Given the description of an element on the screen output the (x, y) to click on. 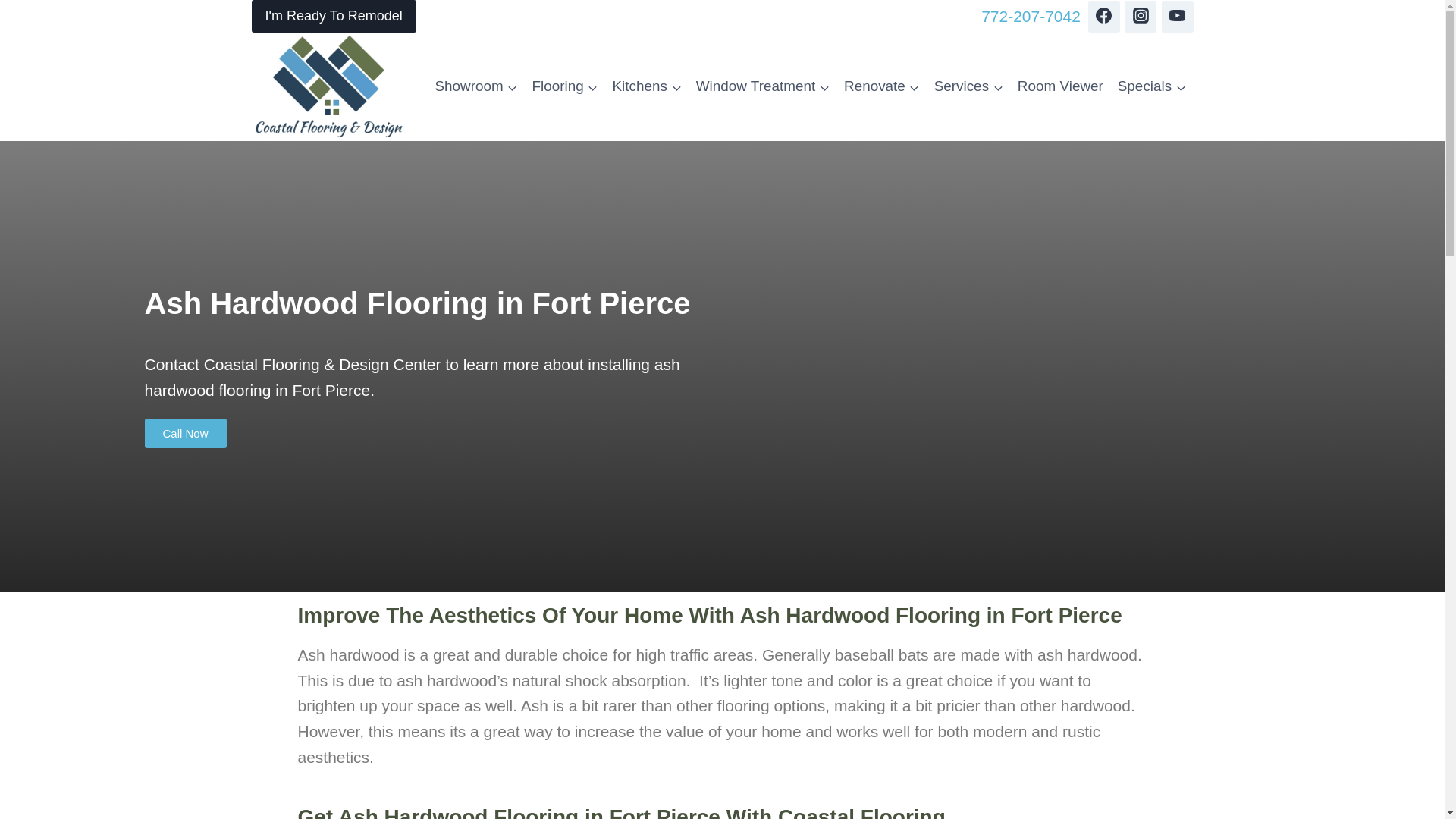
Flooring (564, 87)
Showroom (476, 87)
772-207-7042 (1030, 16)
I'm Ready To Remodel (333, 16)
